Given the description of an element on the screen output the (x, y) to click on. 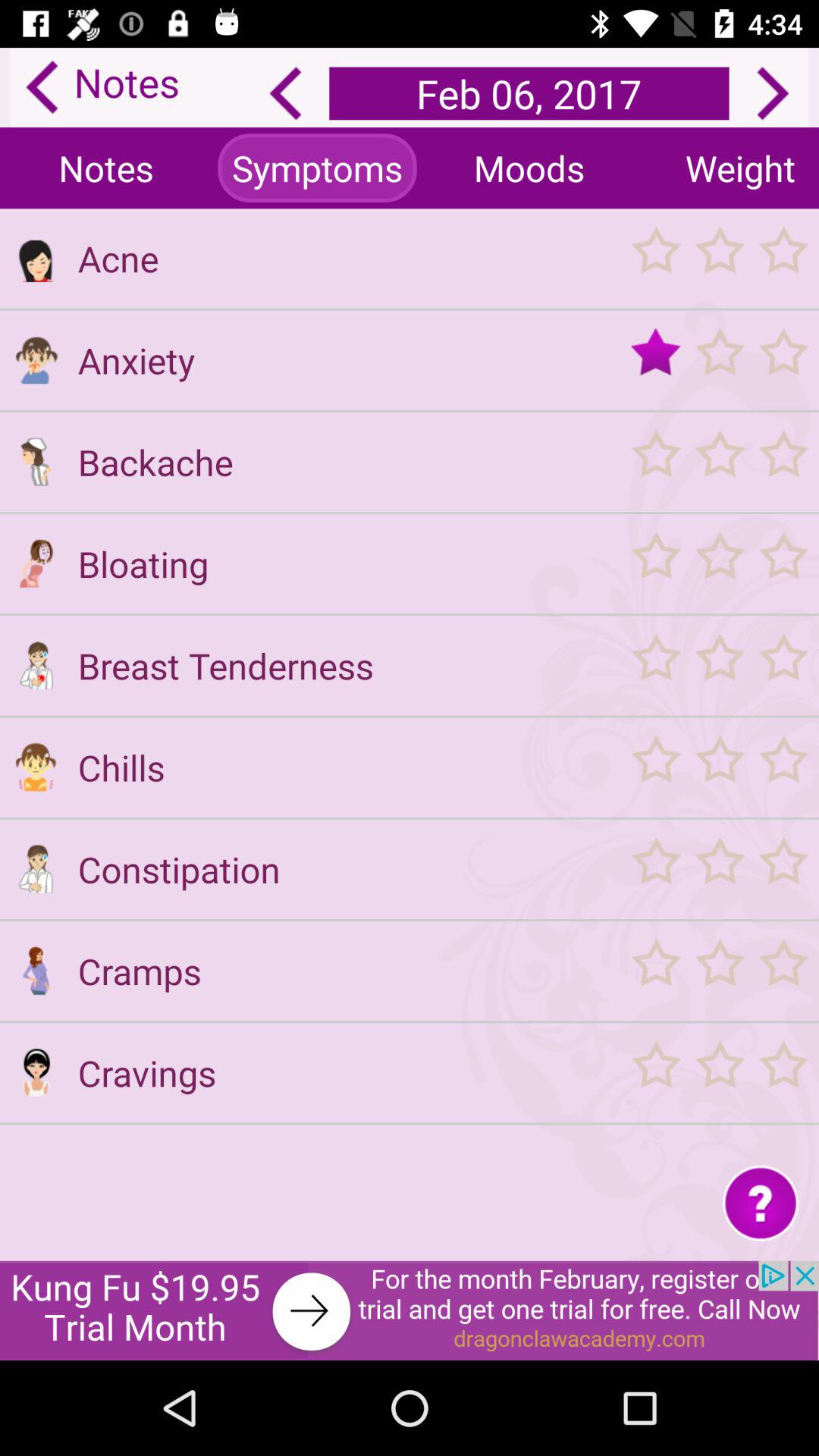
menu option (35, 970)
